Given the description of an element on the screen output the (x, y) to click on. 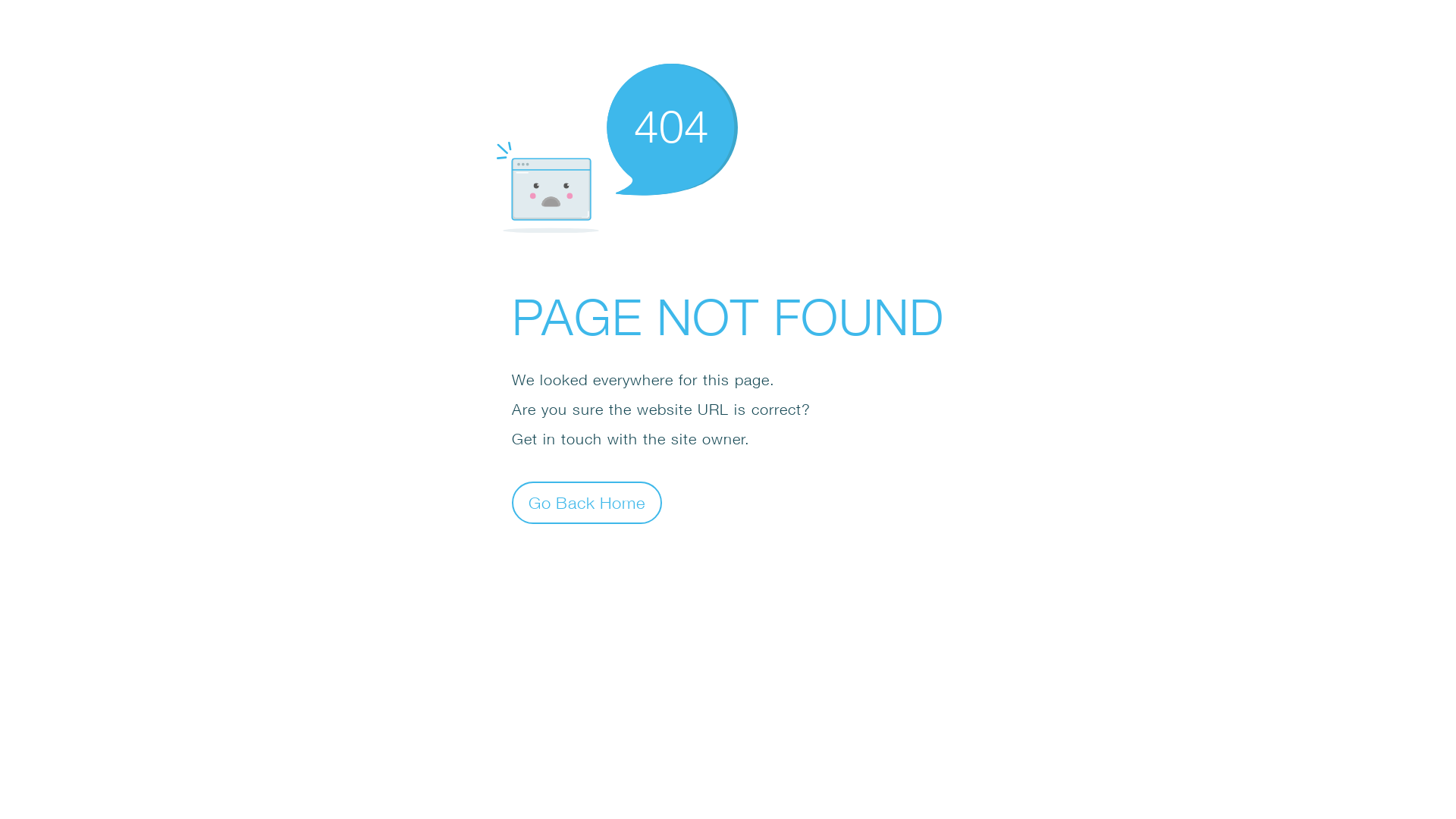
Go Back Home Element type: text (586, 502)
